Given the description of an element on the screen output the (x, y) to click on. 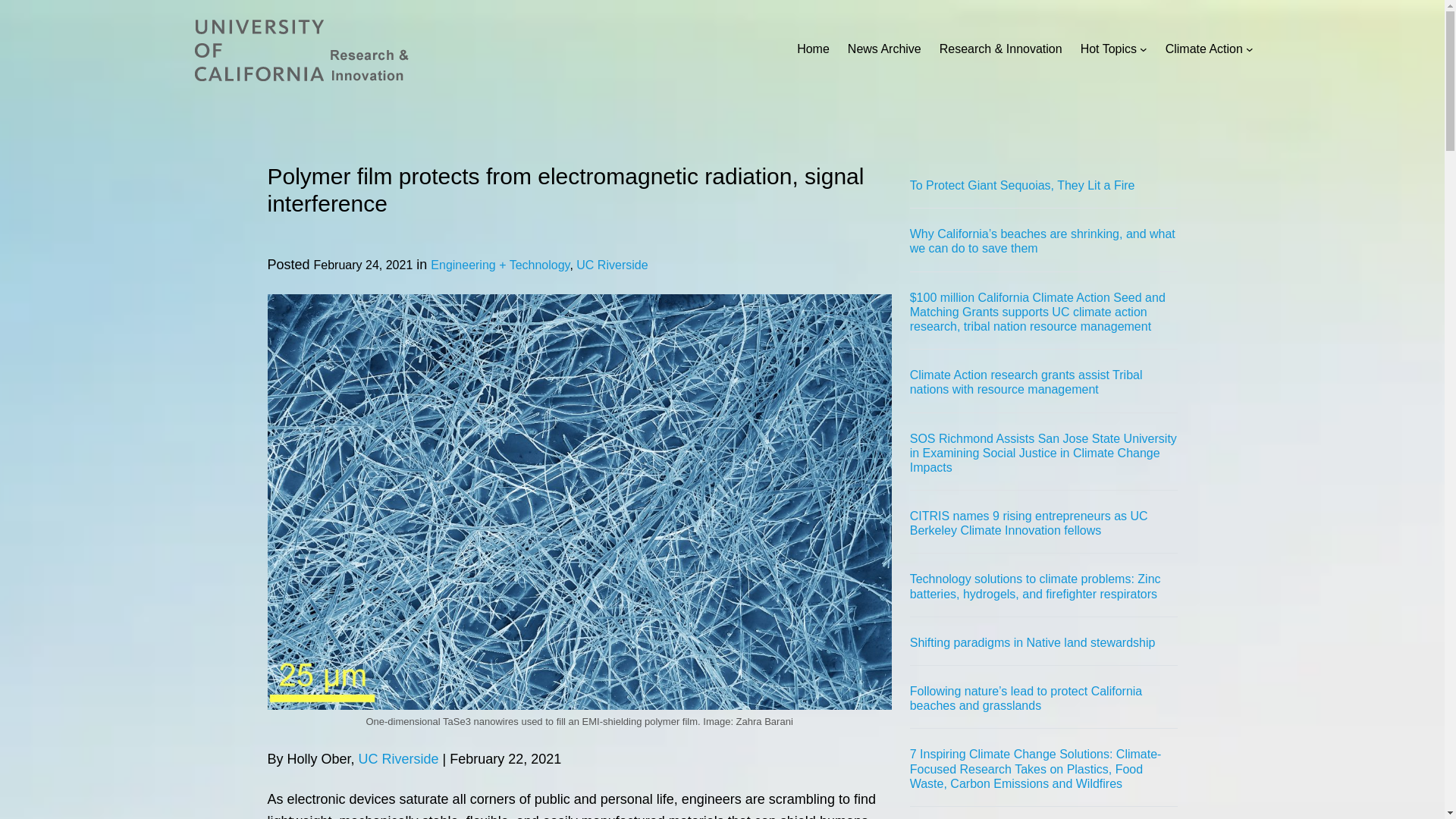
Climate Action (1204, 48)
News Archive (884, 48)
Hot Topics (1108, 48)
To Protect Giant Sequoias, They Lit a Fire (1022, 185)
UC Research Home (812, 48)
UC Riverside (611, 264)
California climate action (1204, 48)
UC Riverside (398, 758)
Home (812, 48)
Shifting paradigms in Native land stewardship (1033, 642)
